Given the description of an element on the screen output the (x, y) to click on. 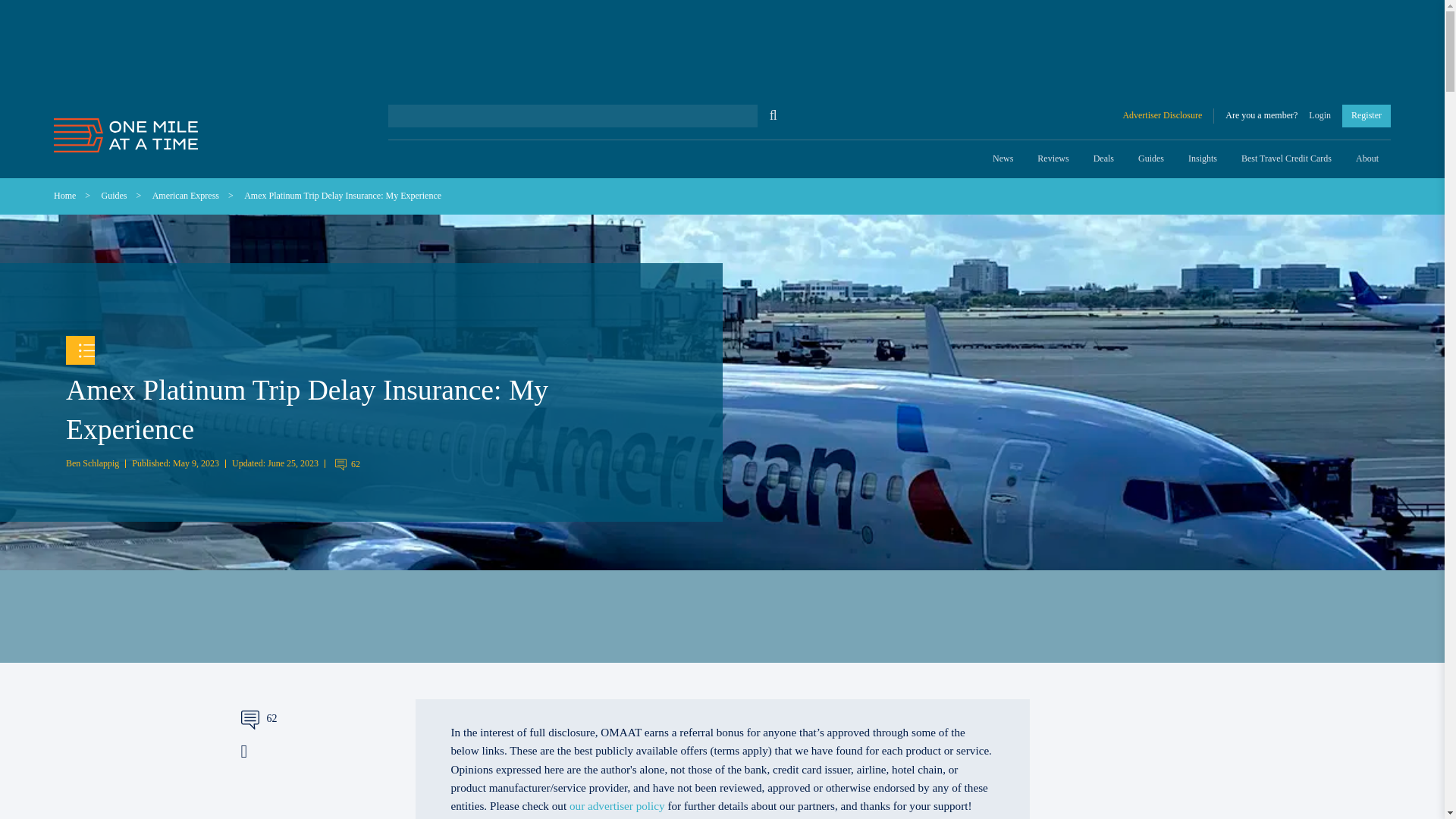
Amex Platinum Trip Delay Insurance: My Experience (342, 195)
Guides (114, 195)
Best Travel Credit Cards (1285, 159)
About (1366, 159)
Insights (1202, 159)
Guides (1150, 159)
our advertiser policy (617, 805)
Insights (1202, 159)
Register (1366, 115)
Login (1319, 115)
